Given the description of an element on the screen output the (x, y) to click on. 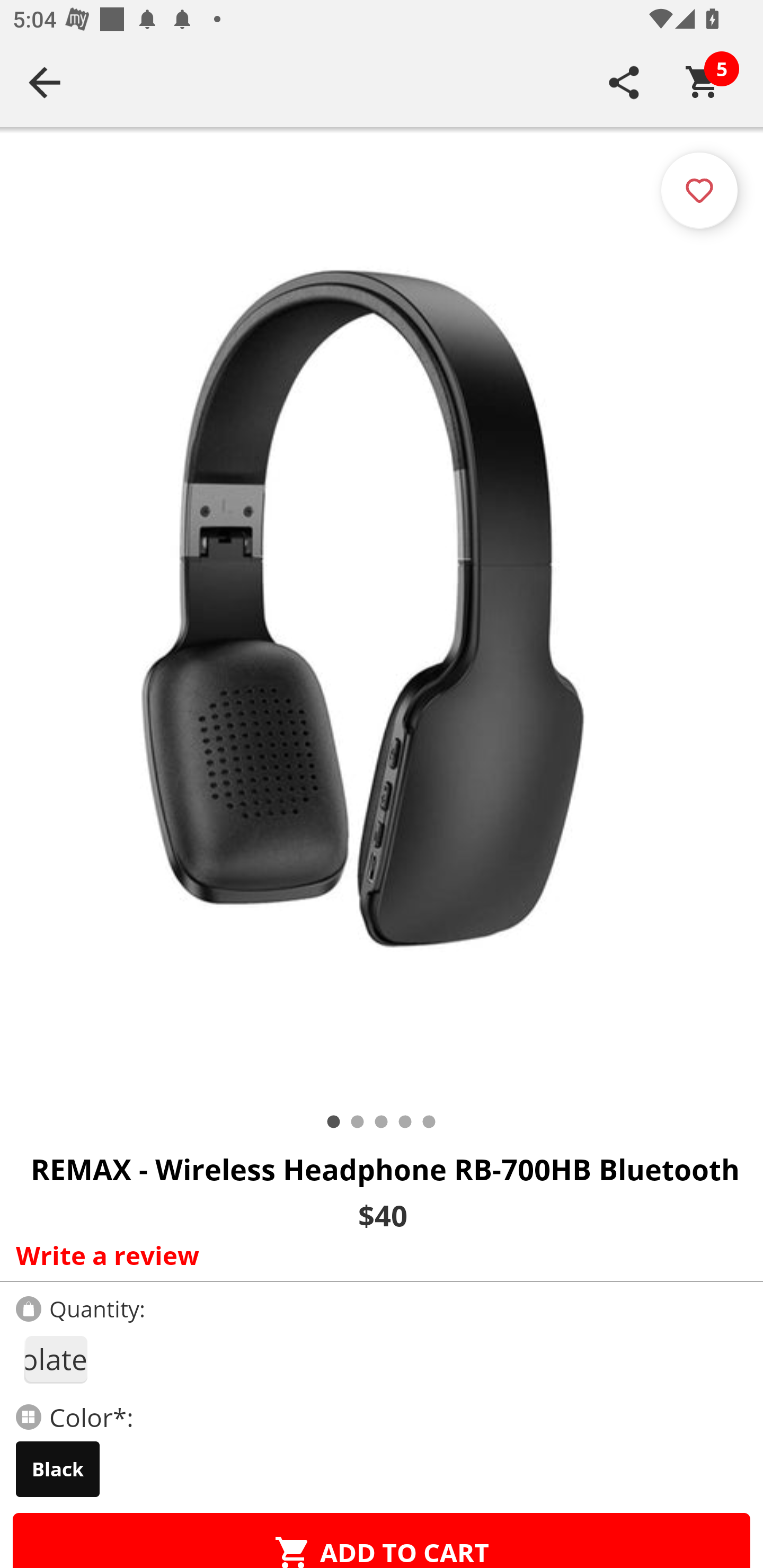
Navigate up (44, 82)
SHARE (623, 82)
Cart (703, 81)
Write a review (377, 1255)
1coffeechocolate (55, 1358)
Black (57, 1468)
ADD TO CART (381, 1540)
